Given the description of an element on the screen output the (x, y) to click on. 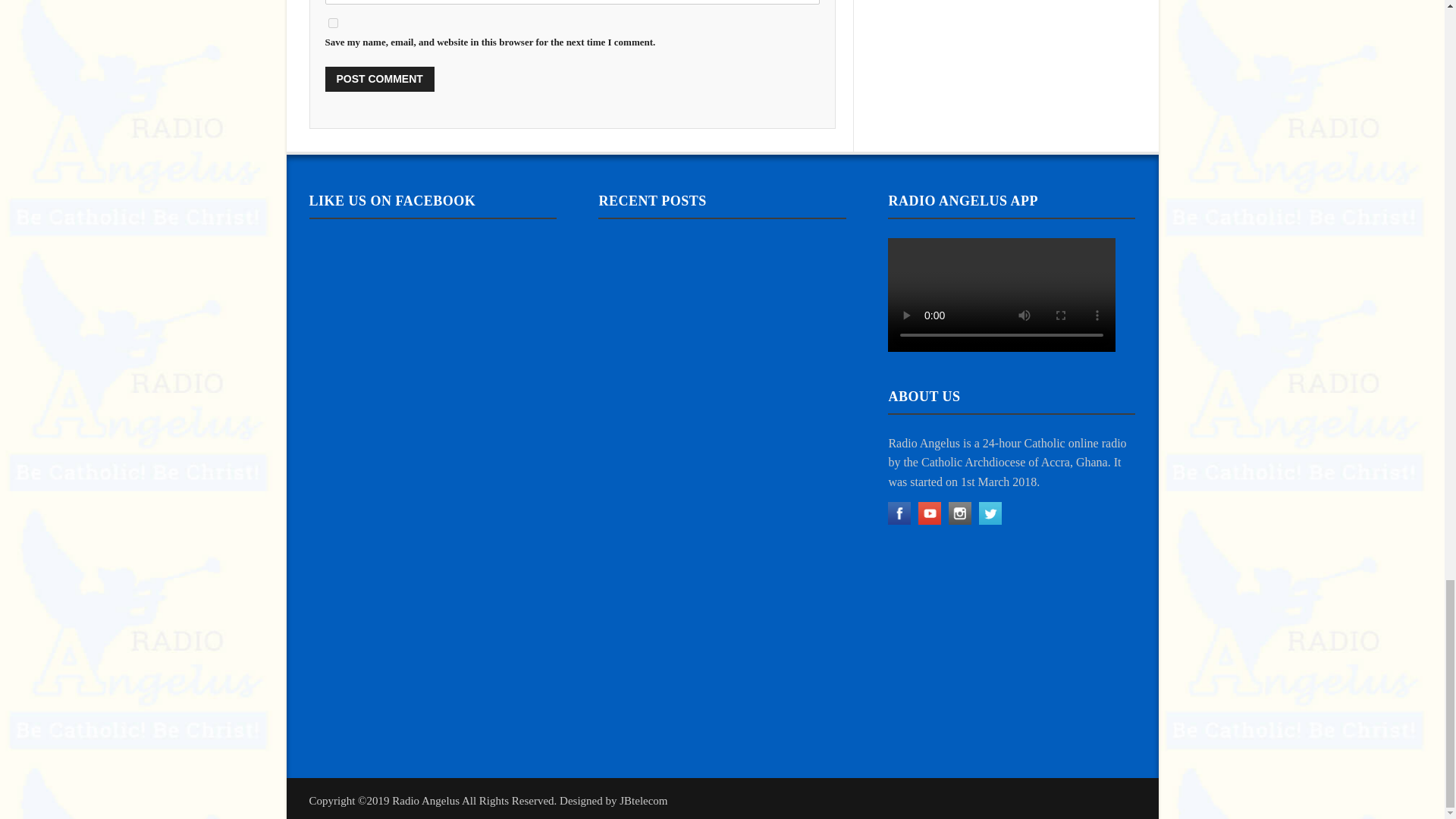
yes (332, 22)
Post Comment (378, 78)
